Given the description of an element on the screen output the (x, y) to click on. 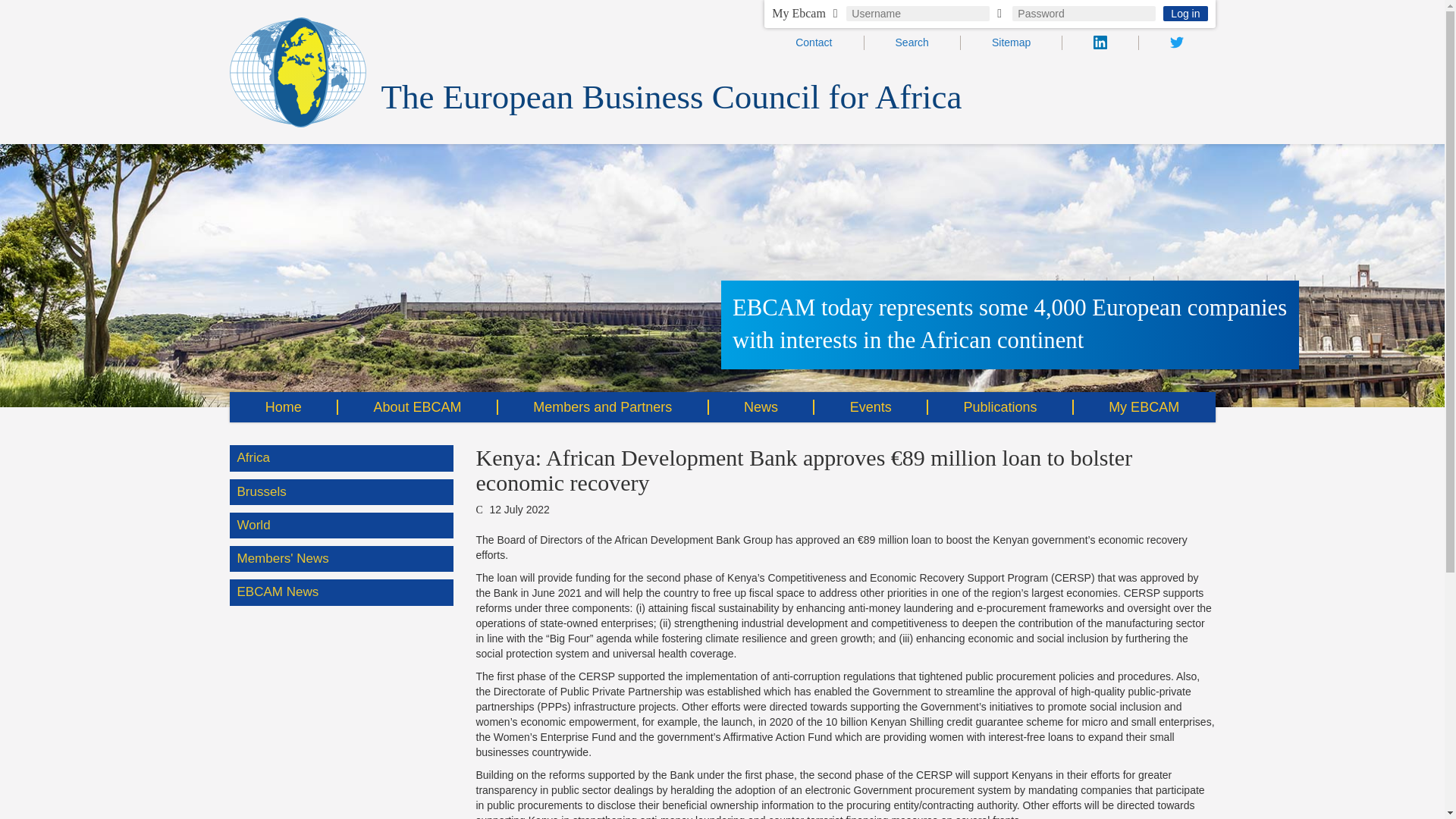
News (760, 407)
Log in (1185, 13)
About EBCAM (417, 407)
Sitemap (1010, 42)
Events (870, 407)
Members and Partners (602, 407)
My EBCAM (1144, 407)
Home (282, 407)
Contact (812, 42)
Search (911, 42)
Publications (1000, 407)
